Given the description of an element on the screen output the (x, y) to click on. 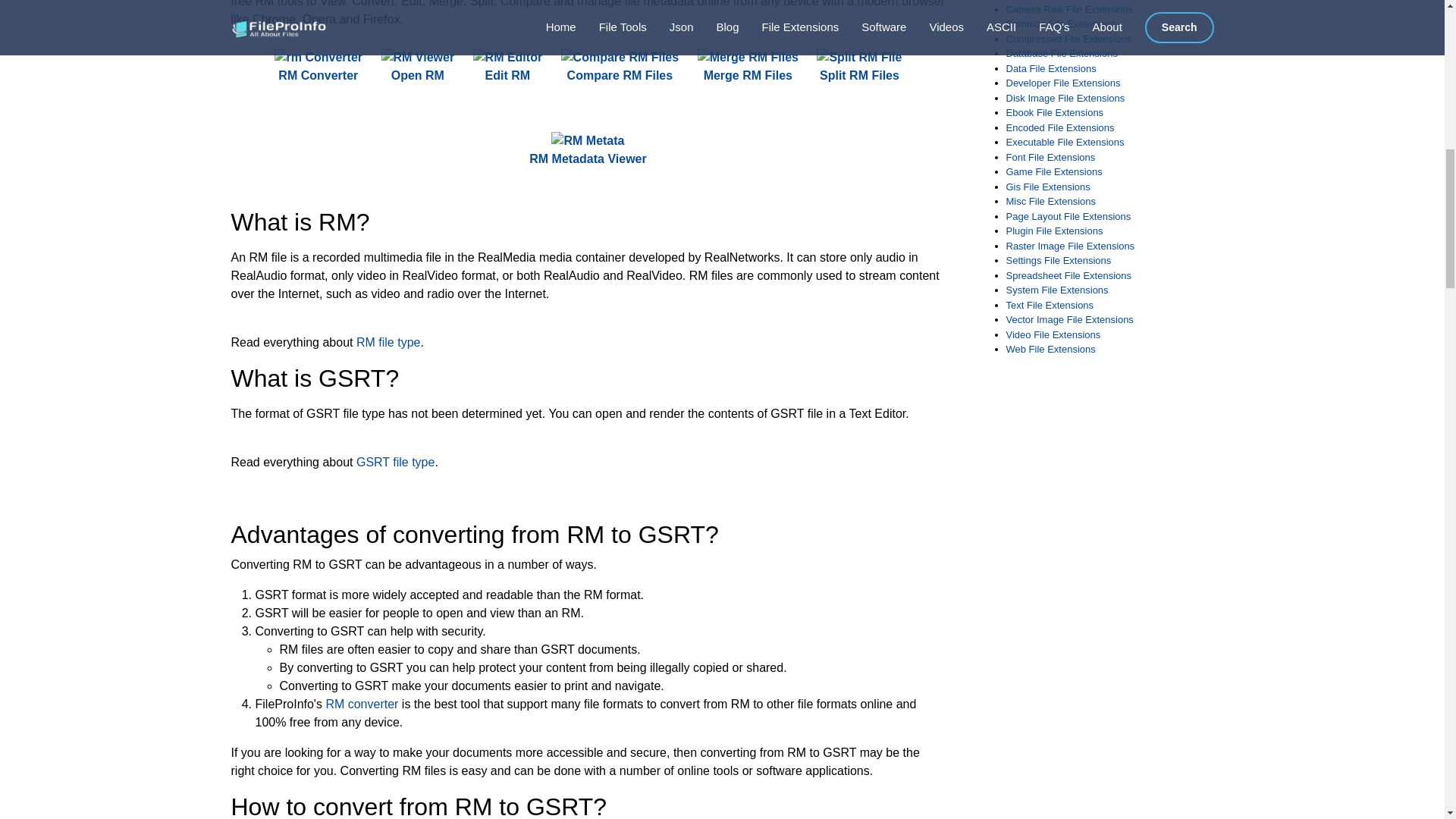
Open RM (417, 66)
RM converter (360, 703)
Compare RM Files (619, 66)
RM Converter (318, 66)
Edit RM (508, 66)
rm Converter online free (318, 57)
RM Viewer, open RM file online and free. (417, 66)
RM Metadata Viewer (587, 150)
Split RM Files (858, 66)
RM file type (388, 341)
